Given the description of an element on the screen output the (x, y) to click on. 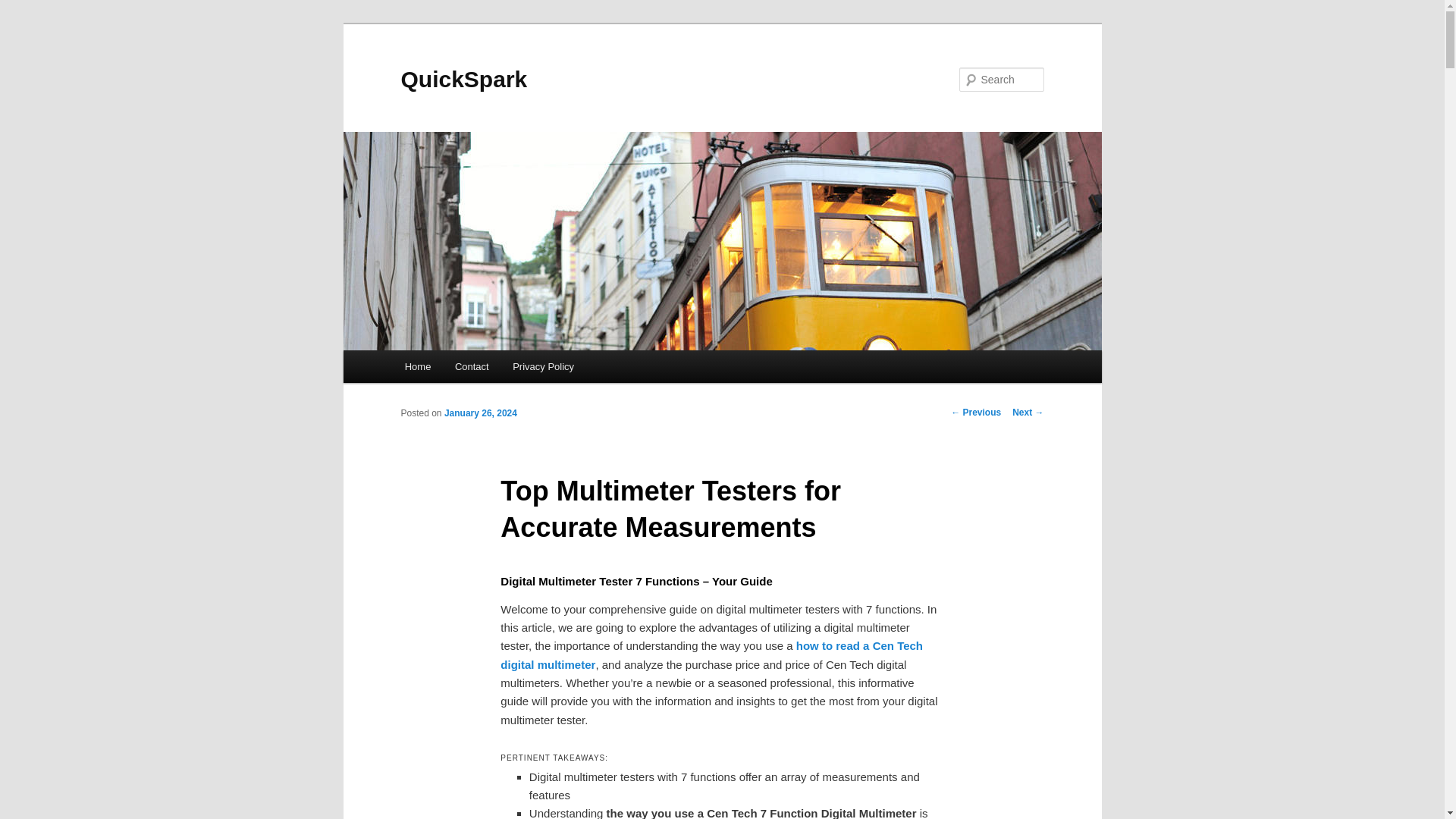
Home (417, 366)
Privacy Policy (542, 366)
QuickSpark (463, 78)
Search (24, 8)
how to read a Cen Tech digital multimeter (711, 654)
January 26, 2024 (480, 412)
8:00 pm (480, 412)
Contact (471, 366)
